Given the description of an element on the screen output the (x, y) to click on. 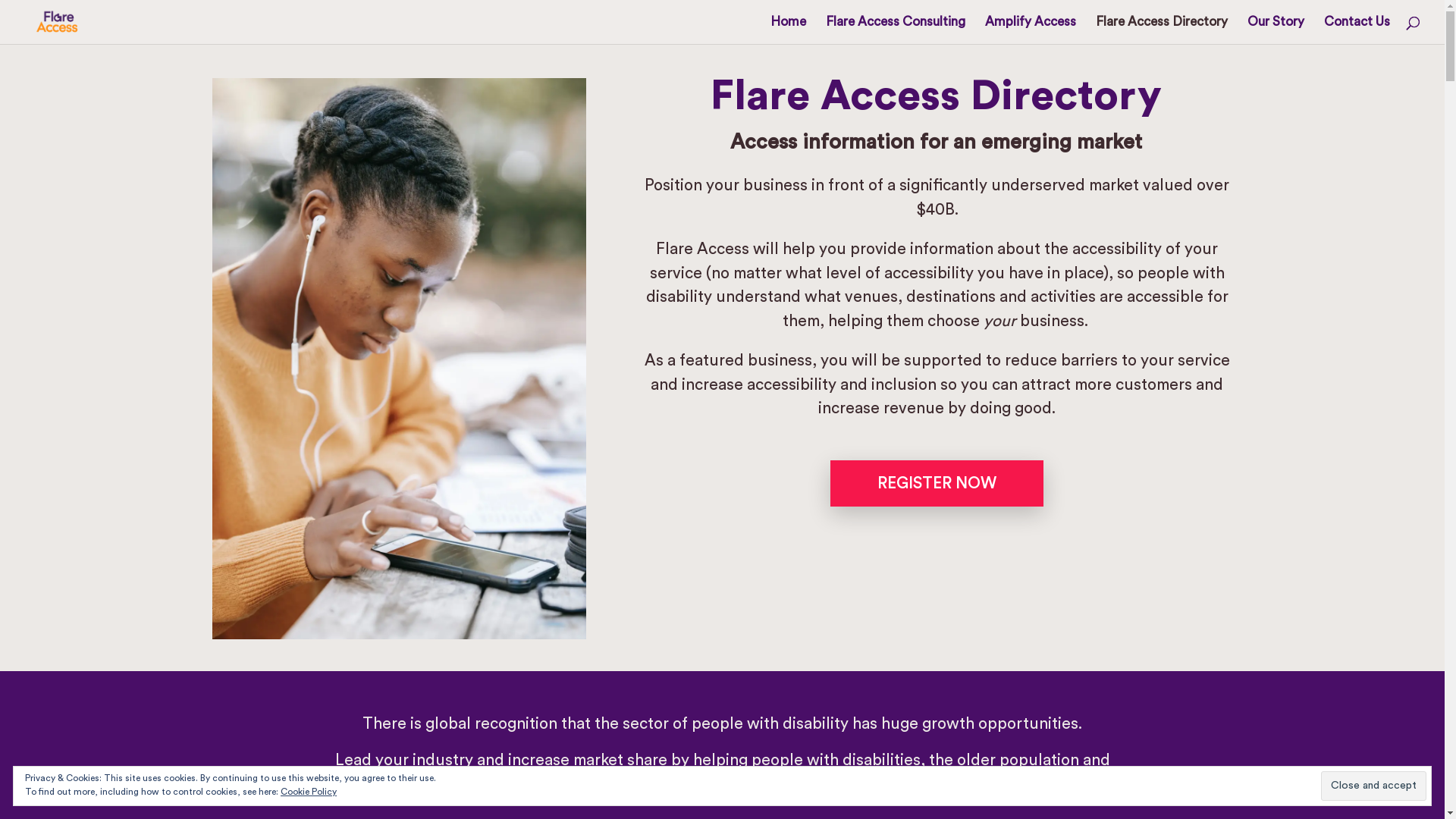
Our Story Element type: text (1275, 29)
Flare Access Directory Element type: text (1161, 29)
Flare Access Consulting Element type: text (895, 29)
Cookie Policy Element type: text (308, 791)
Contact Us Element type: text (1357, 29)
Home Element type: text (788, 29)
pexels-charlotte-may-5965896 Element type: hover (399, 358)
Amplify Access Element type: text (1030, 29)
Skip to content Element type: text (0, 0)
Close and accept Element type: text (1373, 785)
REGISTER NOW Element type: text (936, 482)
